Given the description of an element on the screen output the (x, y) to click on. 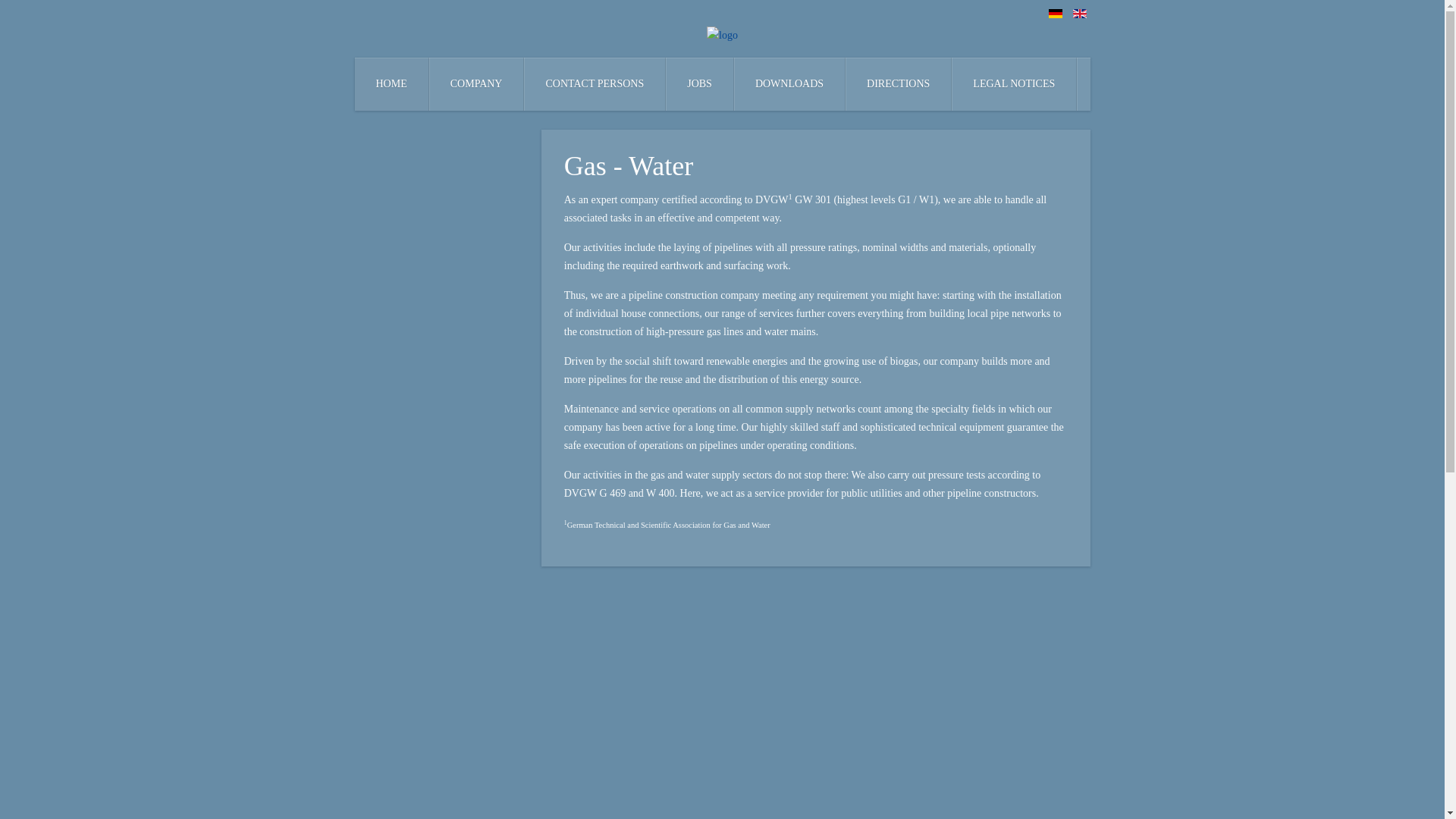
LEGAL NOTICES (1014, 83)
JOBS (699, 83)
CONTACT PERSONS (594, 83)
DOWNLOADS (789, 83)
de (1055, 13)
COMPANY (476, 83)
HOME (392, 83)
DIRECTIONS (898, 83)
